Given the description of an element on the screen output the (x, y) to click on. 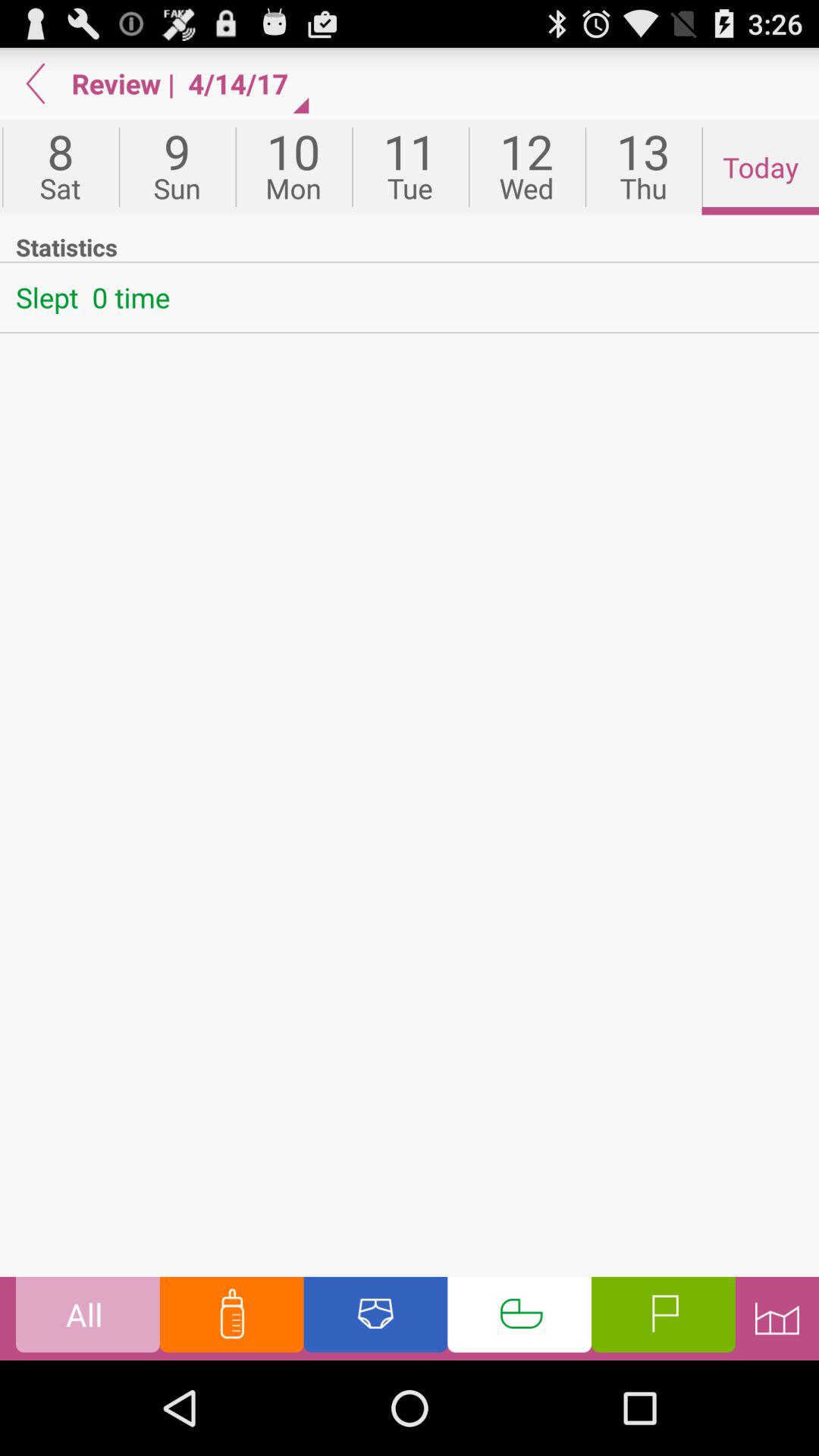
turn off the app above statistics (643, 166)
